Given the description of an element on the screen output the (x, y) to click on. 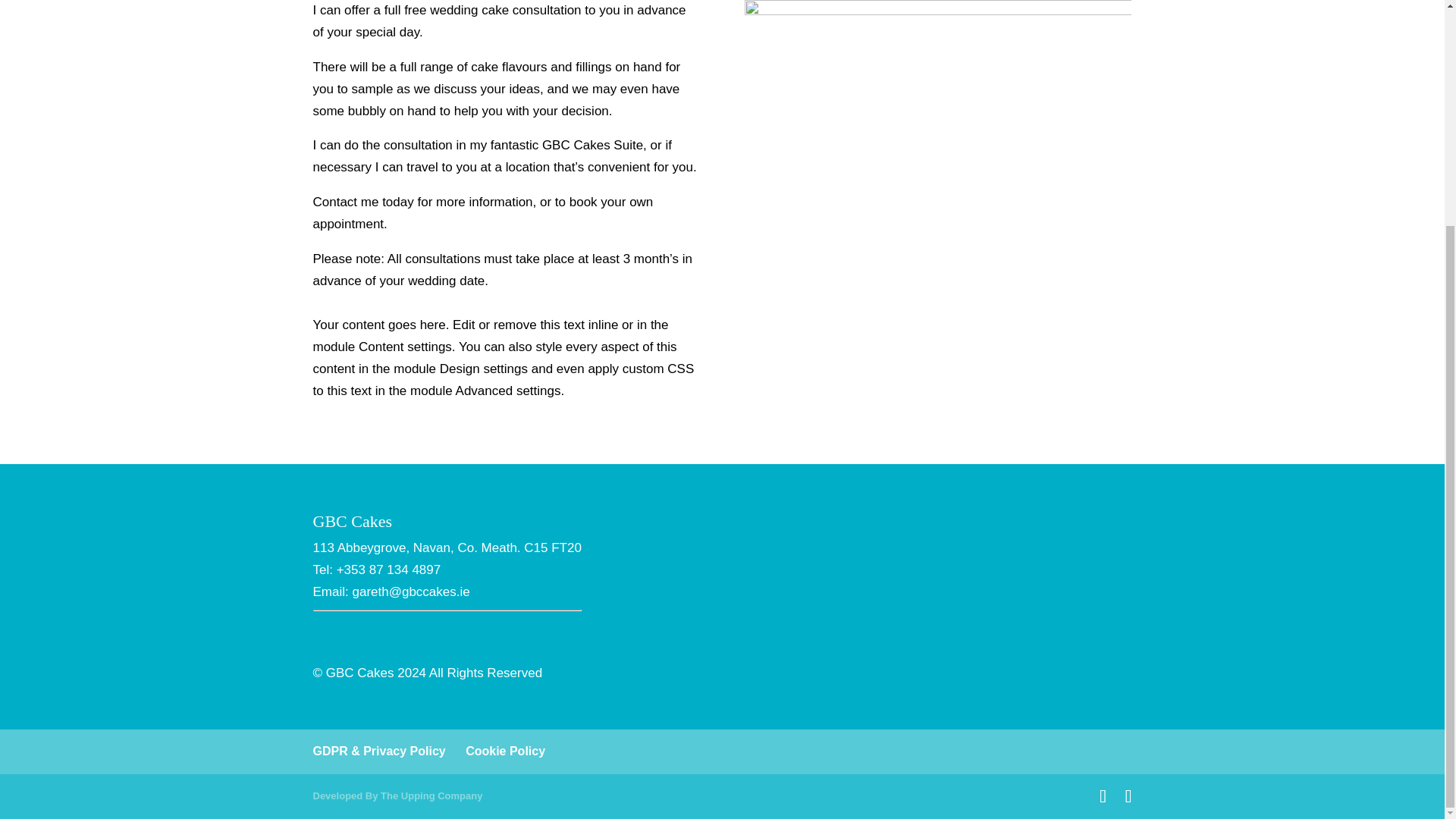
Cookie Policy (504, 750)
Developed By The Upping Company (397, 795)
